Given the description of an element on the screen output the (x, y) to click on. 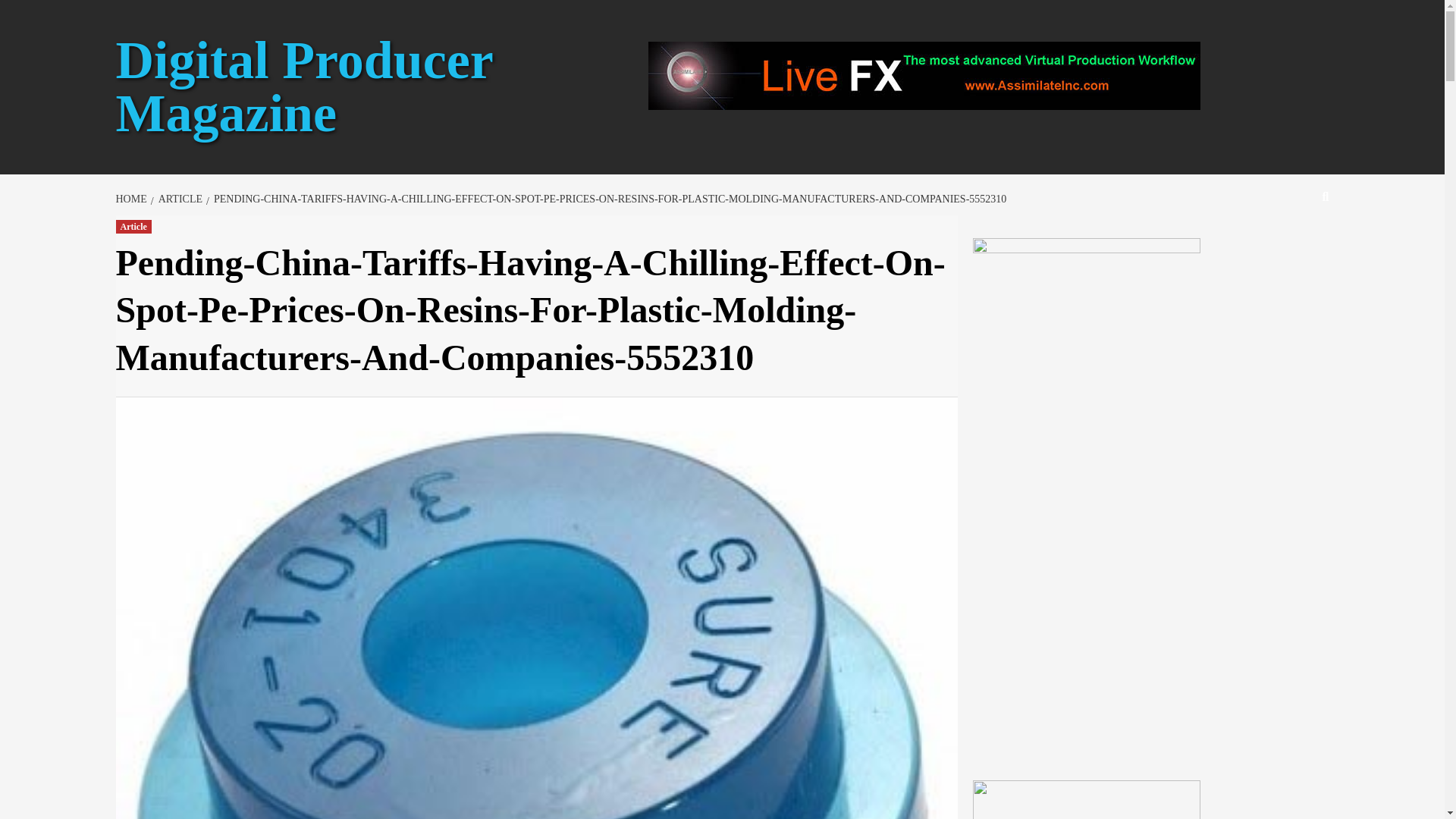
ARTICLE (178, 198)
HOME (132, 198)
Article (133, 226)
Digital Producer Magazine (303, 86)
